Given the description of an element on the screen output the (x, y) to click on. 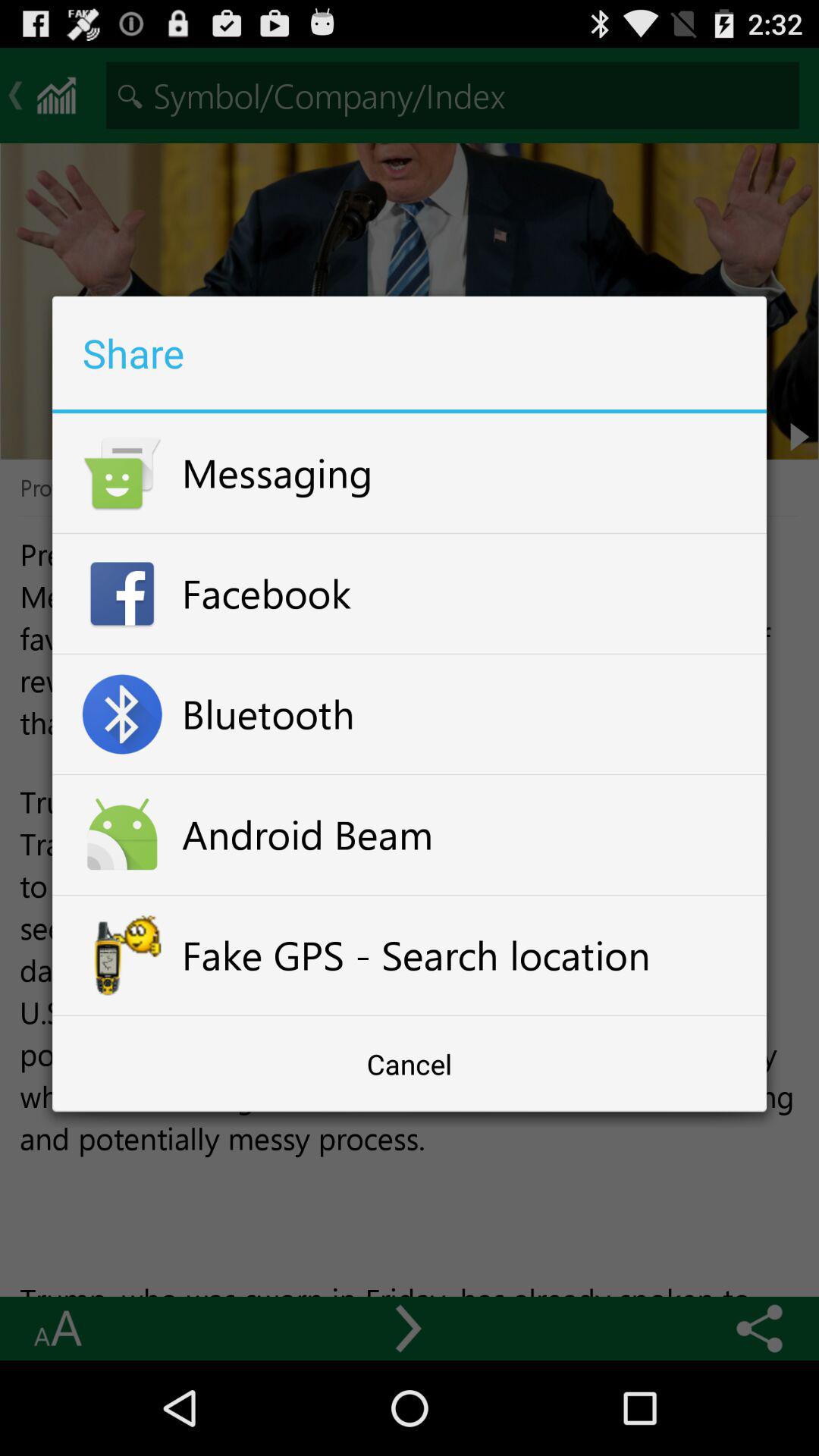
flip to the cancel item (409, 1063)
